Given the description of an element on the screen output the (x, y) to click on. 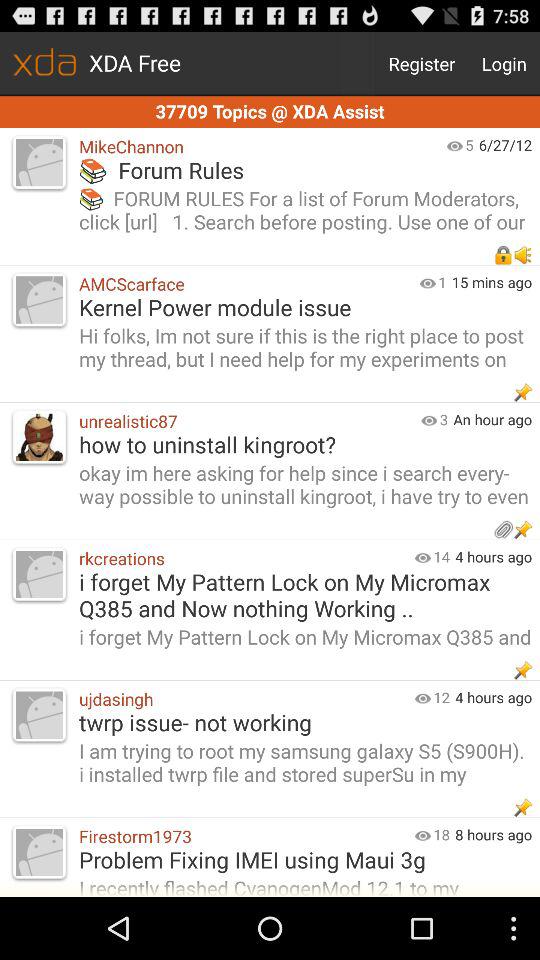
turn off the unrealistic87 (245, 420)
